Given the description of an element on the screen output the (x, y) to click on. 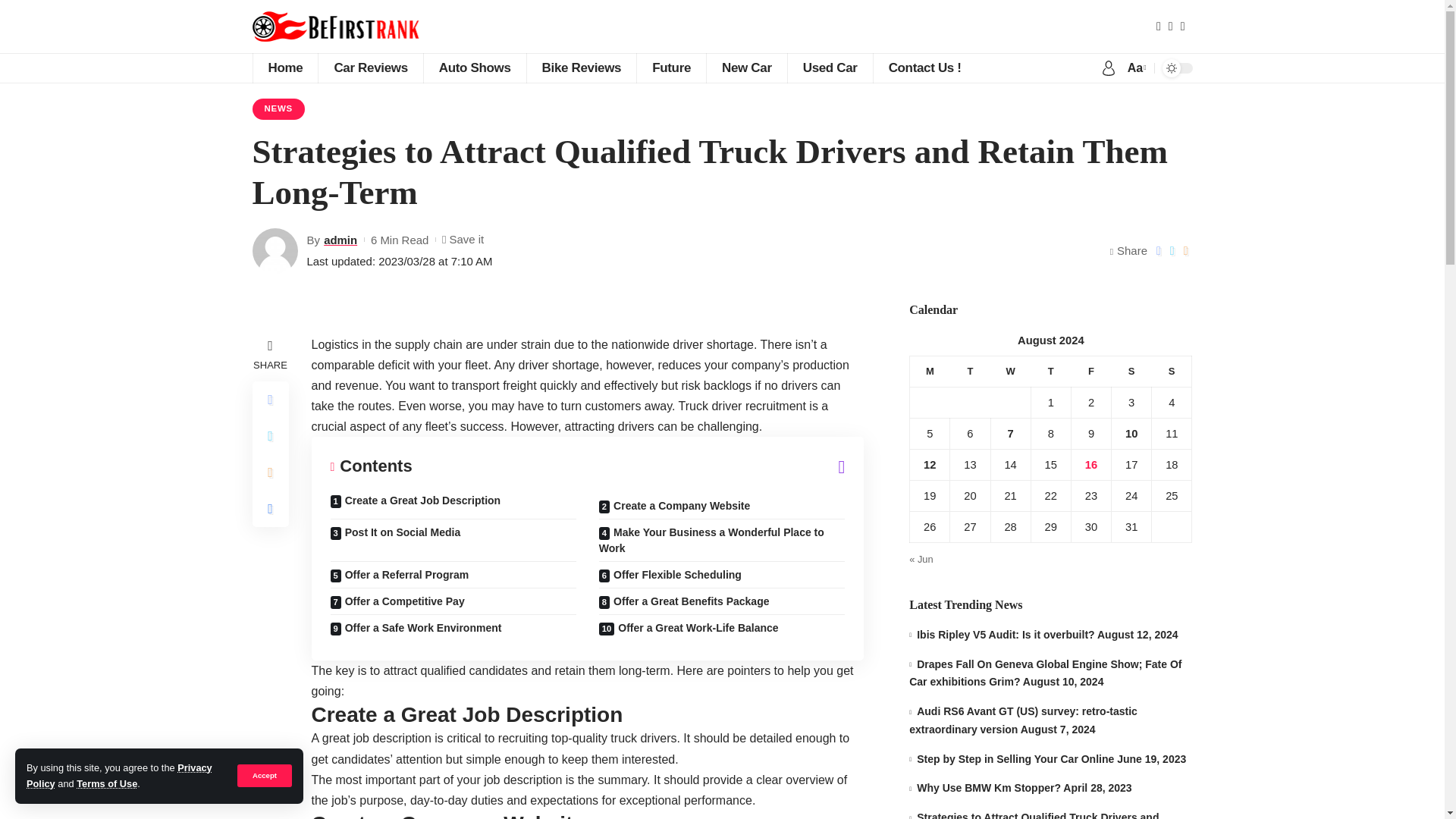
Saturday (1131, 370)
Privacy Policy (119, 775)
Terms of Use (106, 783)
Monday (930, 370)
Accept (264, 775)
Bike Reviews (581, 68)
Sunday (1171, 370)
Home (284, 68)
New Car (746, 68)
Future (671, 68)
